Given the description of an element on the screen output the (x, y) to click on. 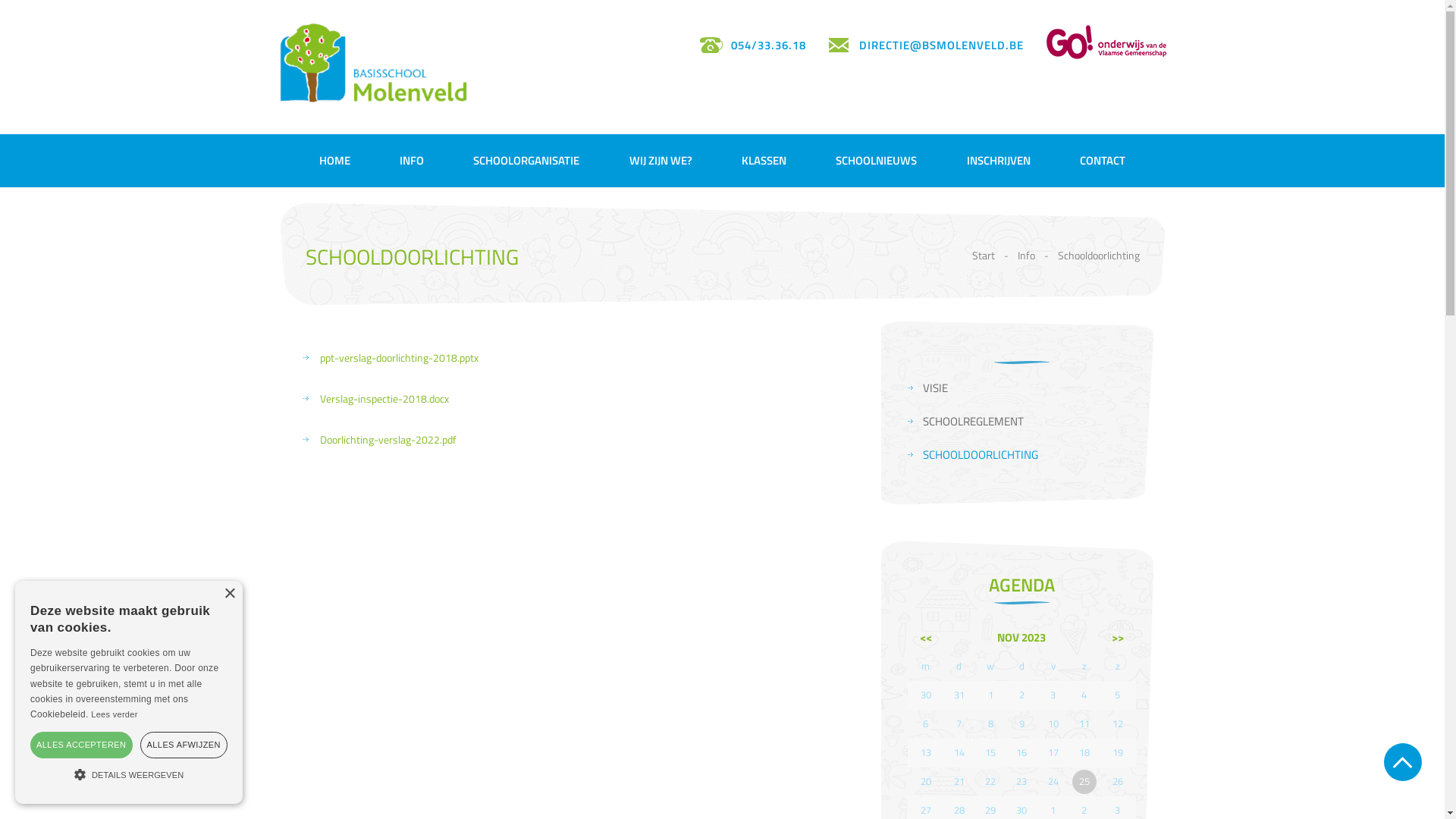
>> Element type: text (1117, 637)
SCHOOLDOORLICHTING Element type: text (1028, 454)
INSCHRIJVEN Element type: text (998, 160)
HOME Element type: text (334, 160)
Info Element type: text (1026, 255)
Verslag-inspectie-2018.docx Element type: text (384, 398)
Doorlichting-verslag-2022.pdf Element type: text (388, 439)
ppt-verslag-doorlichting-2018.pptx Element type: text (399, 357)
CONTACT Element type: text (1102, 160)
VISIE Element type: text (1028, 388)
054/33.36.18 Element type: text (752, 44)
Start Element type: text (983, 255)
SCHOOLREGLEMENT Element type: text (1028, 421)
WIJ ZIJN WE? Element type: text (660, 160)
SCHOOLORGANISATIE Element type: text (526, 160)
SCHOOLNIEUWS Element type: text (875, 160)
DIRECTIE@BSMOLENVELD.BE Element type: text (925, 44)
KLASSEN Element type: text (763, 160)
INFO Element type: text (411, 160)
Lees verder Element type: text (114, 713)
<< Element type: text (925, 637)
